Given the description of an element on the screen output the (x, y) to click on. 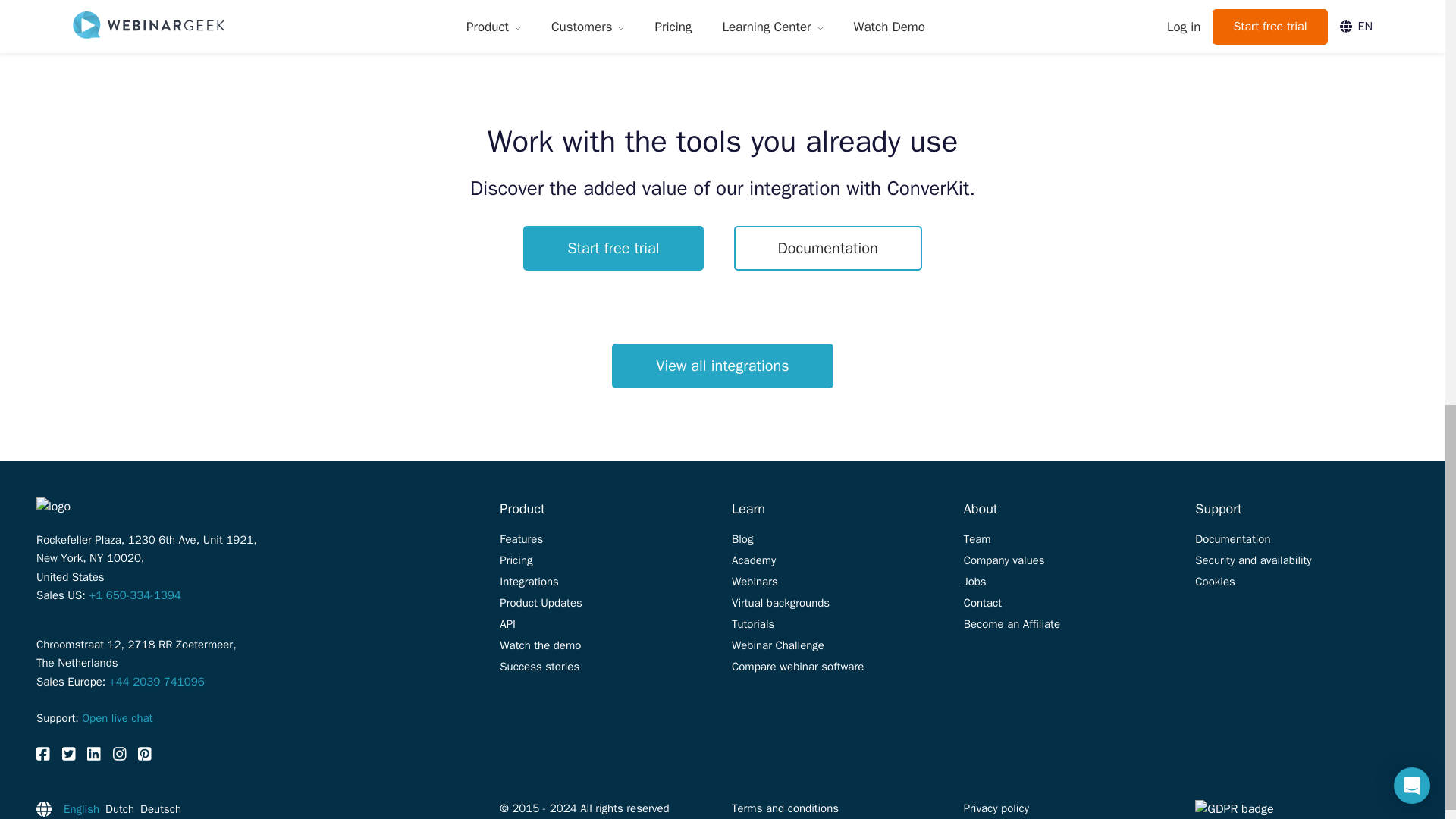
GDPR badge (1302, 809)
logo (111, 506)
